Given the description of an element on the screen output the (x, y) to click on. 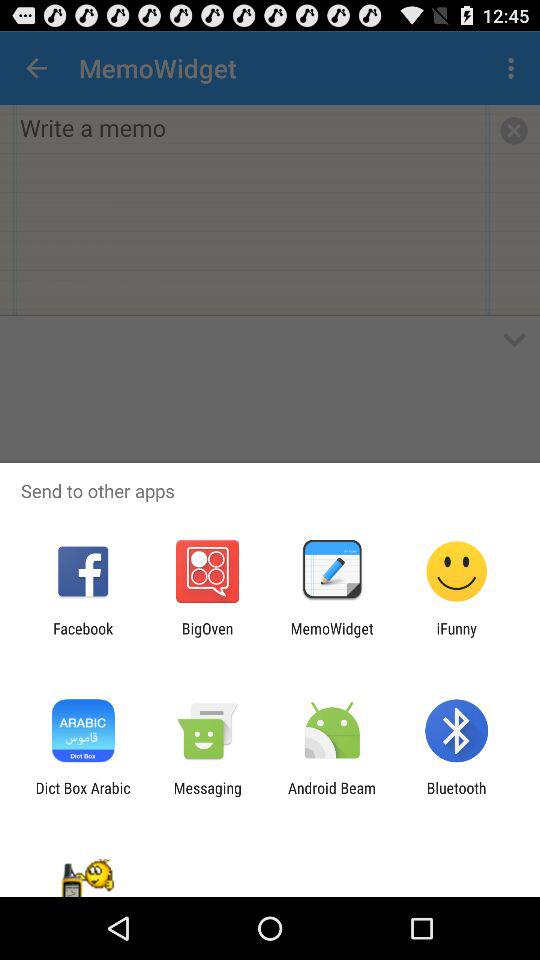
turn off icon next to dict box arabic (207, 796)
